Given the description of an element on the screen output the (x, y) to click on. 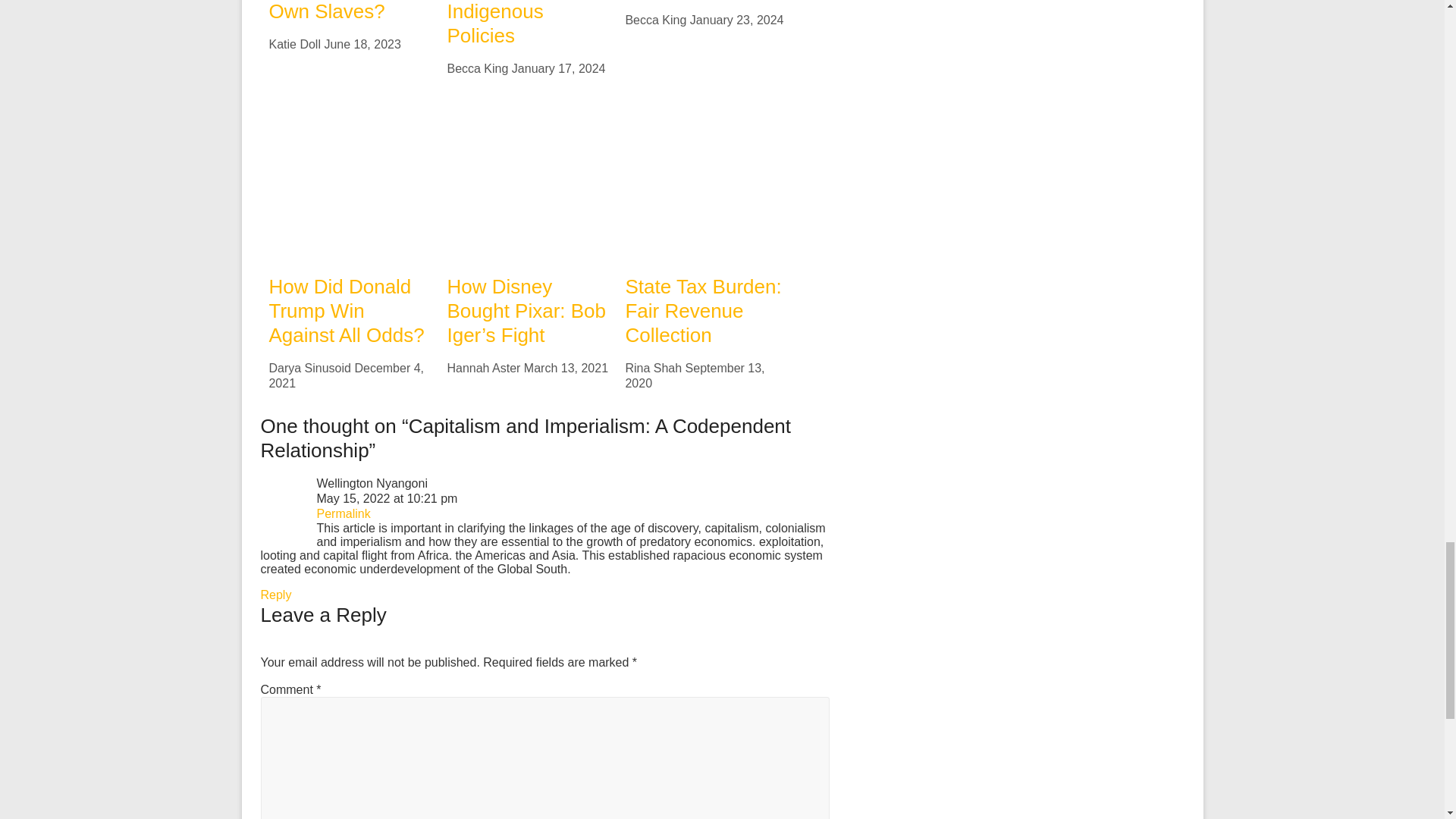
January 23, 2024 (737, 19)
3:01 pm (361, 43)
12:38 pm (558, 68)
December 4, 2021 (345, 375)
Darya Sinusoid (308, 367)
How Did Donald Trump Win Against All Odds? (345, 310)
Becca King (654, 19)
8:29 pm (737, 19)
January 17, 2024 (558, 68)
Alexander Hamilton on Slavery: Did He Own Slaves? (336, 11)
Becca King (477, 68)
Alexander Hamilton on Slavery: Did He Own Slaves? (336, 11)
June 18, 2023 (361, 43)
